Given the description of an element on the screen output the (x, y) to click on. 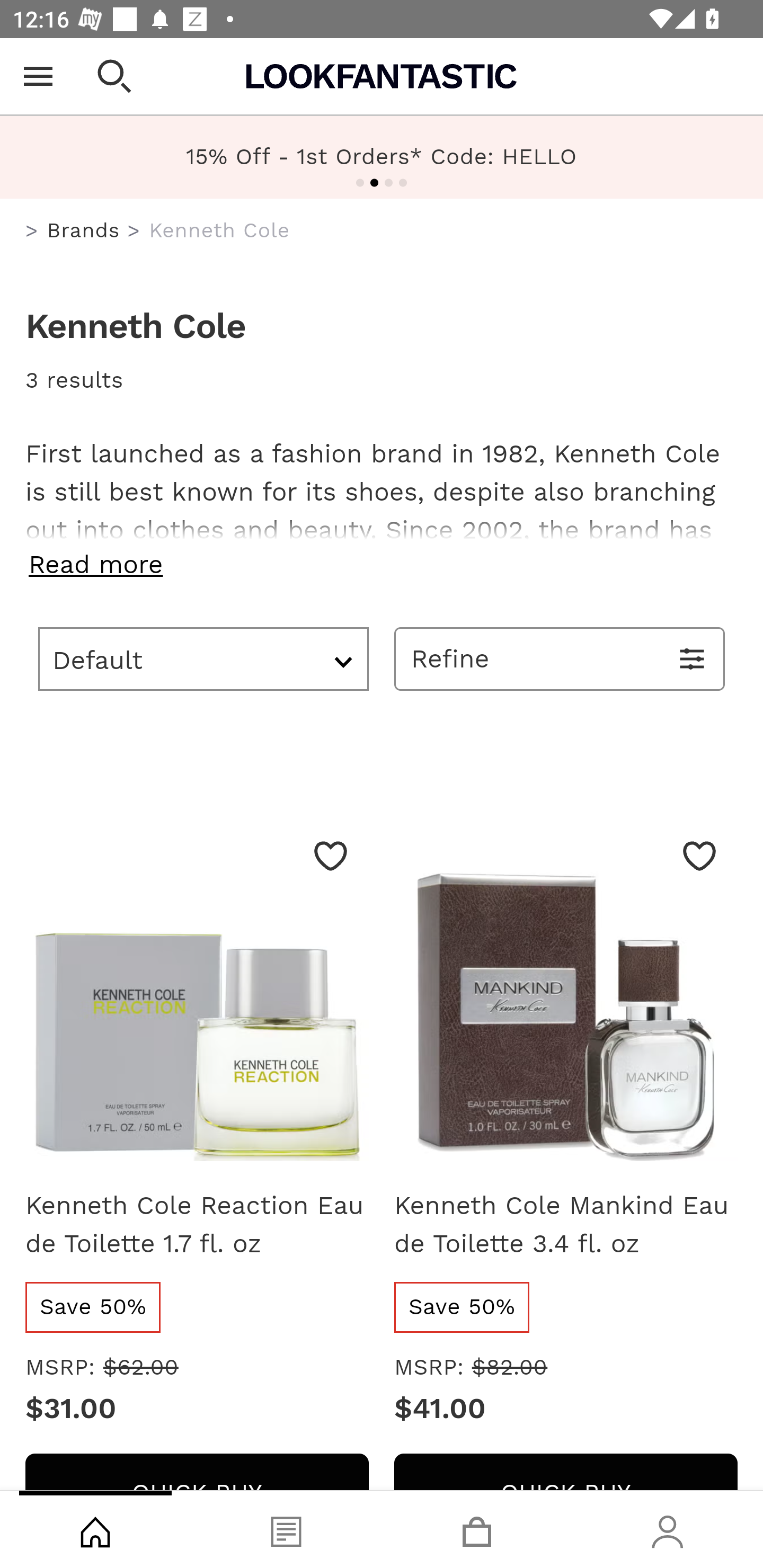
Open Menu (38, 75)
Open search (114, 75)
Lookfantastic USA (381, 75)
us.lookfantastic (32, 230)
Brands (82, 230)
Read more (381, 564)
Default (203, 658)
Refine (559, 658)
Kenneth Cole Reaction Eau de Toilette 1.7 fl. oz (196, 995)
Kenneth Cole Mankind Eau de Toilette 3.4 fl. oz (565, 995)
Save to Wishlist (330, 856)
Save to Wishlist (698, 856)
Kenneth Cole Reaction Eau de Toilette 1.7 fl. oz (196, 1224)
Kenneth Cole Mankind Eau de Toilette 3.4 fl. oz (565, 1224)
Save 50%, read more (93, 1306)
Save 50%, read more (462, 1306)
Shop, tab, 1 of 4 (95, 1529)
Blog, tab, 2 of 4 (285, 1529)
Basket, tab, 3 of 4 (476, 1529)
Account, tab, 4 of 4 (667, 1529)
